Given the description of an element on the screen output the (x, y) to click on. 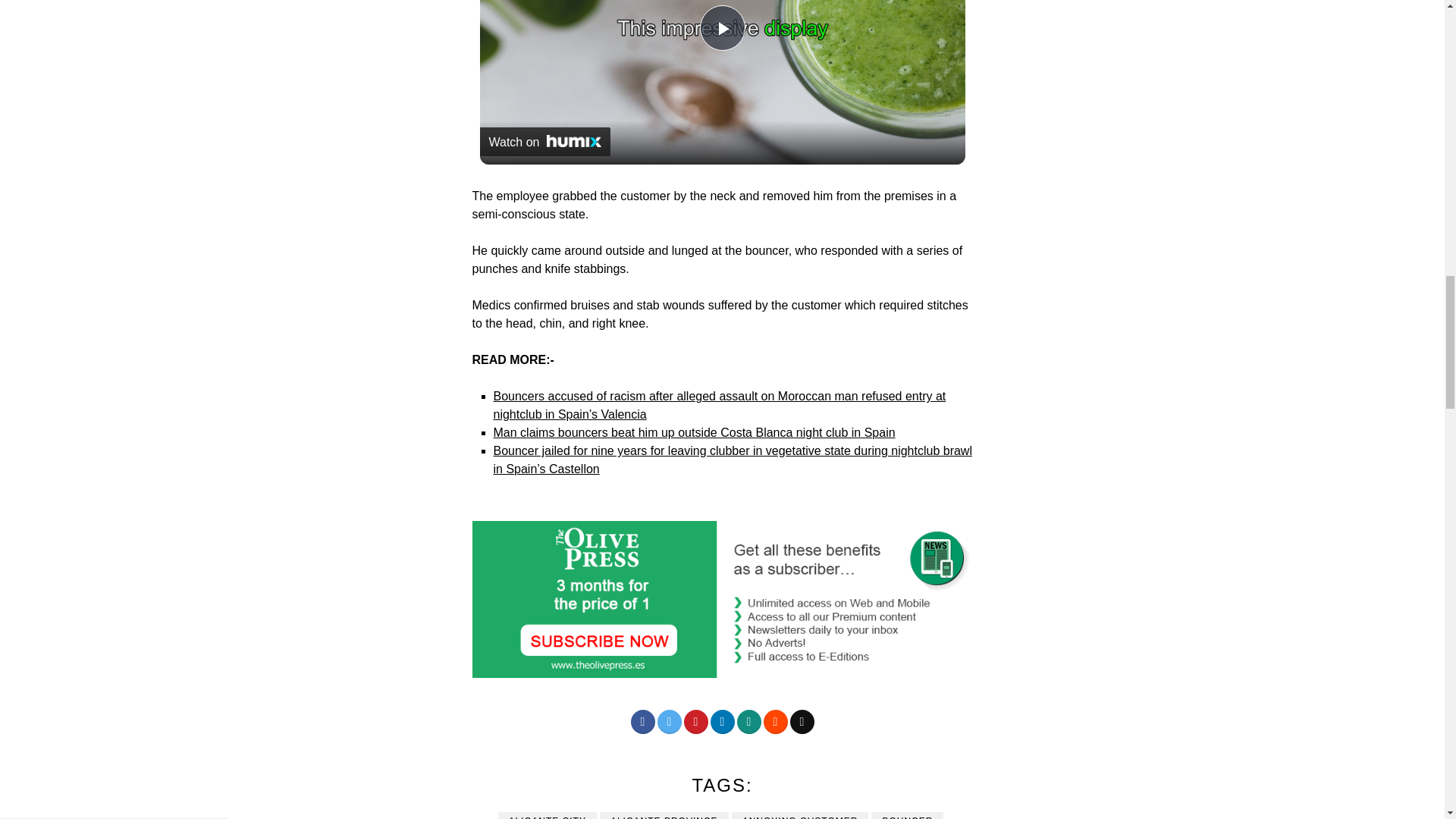
Play Video (721, 27)
